Given the description of an element on the screen output the (x, y) to click on. 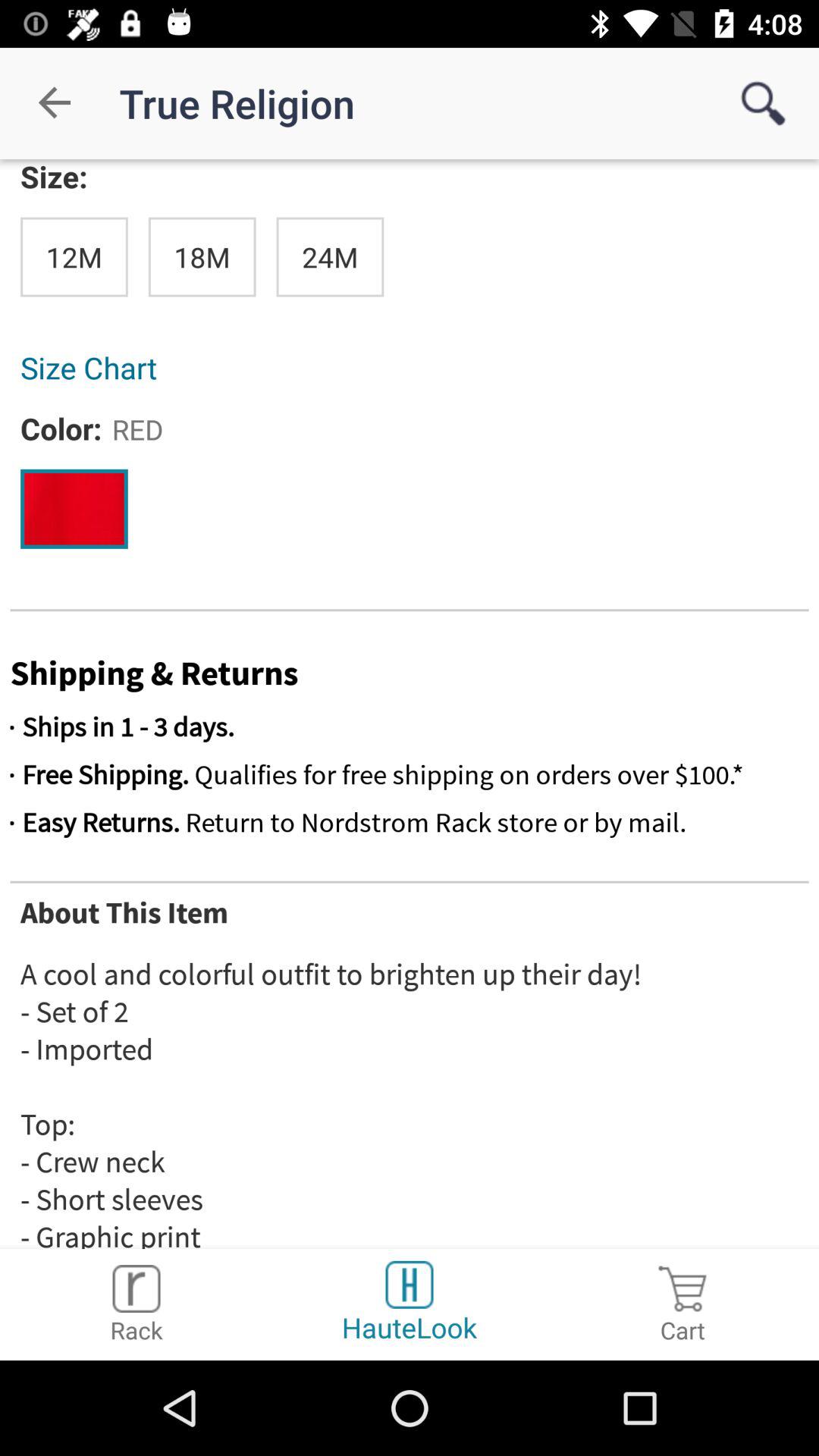
tap icon below the size: icon (73, 256)
